Given the description of an element on the screen output the (x, y) to click on. 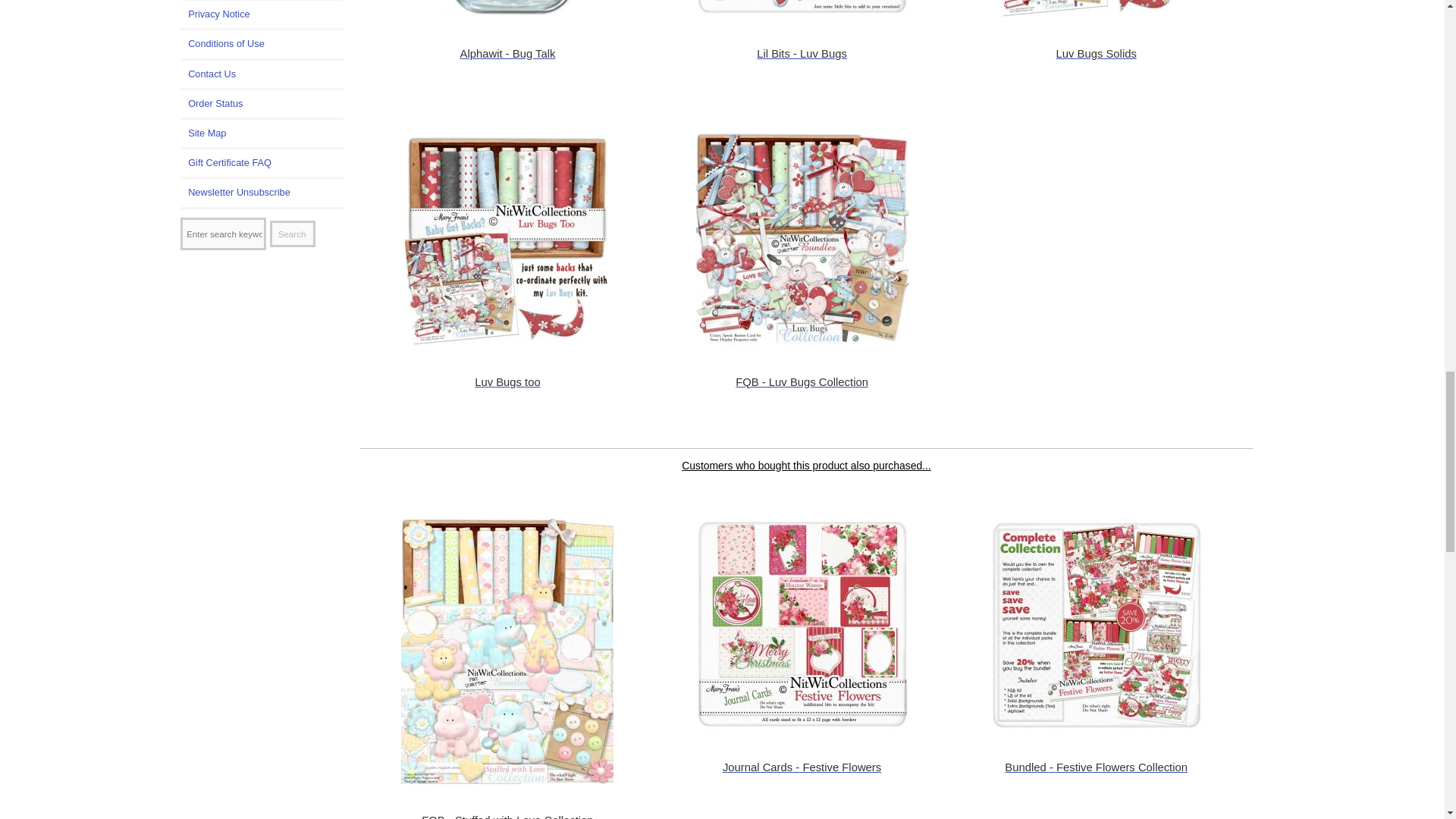
Alphawit - Bug Talk (506, 8)
Conditions of Use (261, 43)
Search (292, 233)
FQB - Luv Bugs Collection (801, 239)
Privacy Notice (261, 13)
Contact Us (261, 73)
Bundled - Festive Flowers Collection (1096, 624)
Luv Bugs Solids (1096, 8)
Lil Bits - Luv Bugs (801, 8)
Journal Cards - Festive Flowers (801, 624)
Luv Bugs too (506, 239)
